Given the description of an element on the screen output the (x, y) to click on. 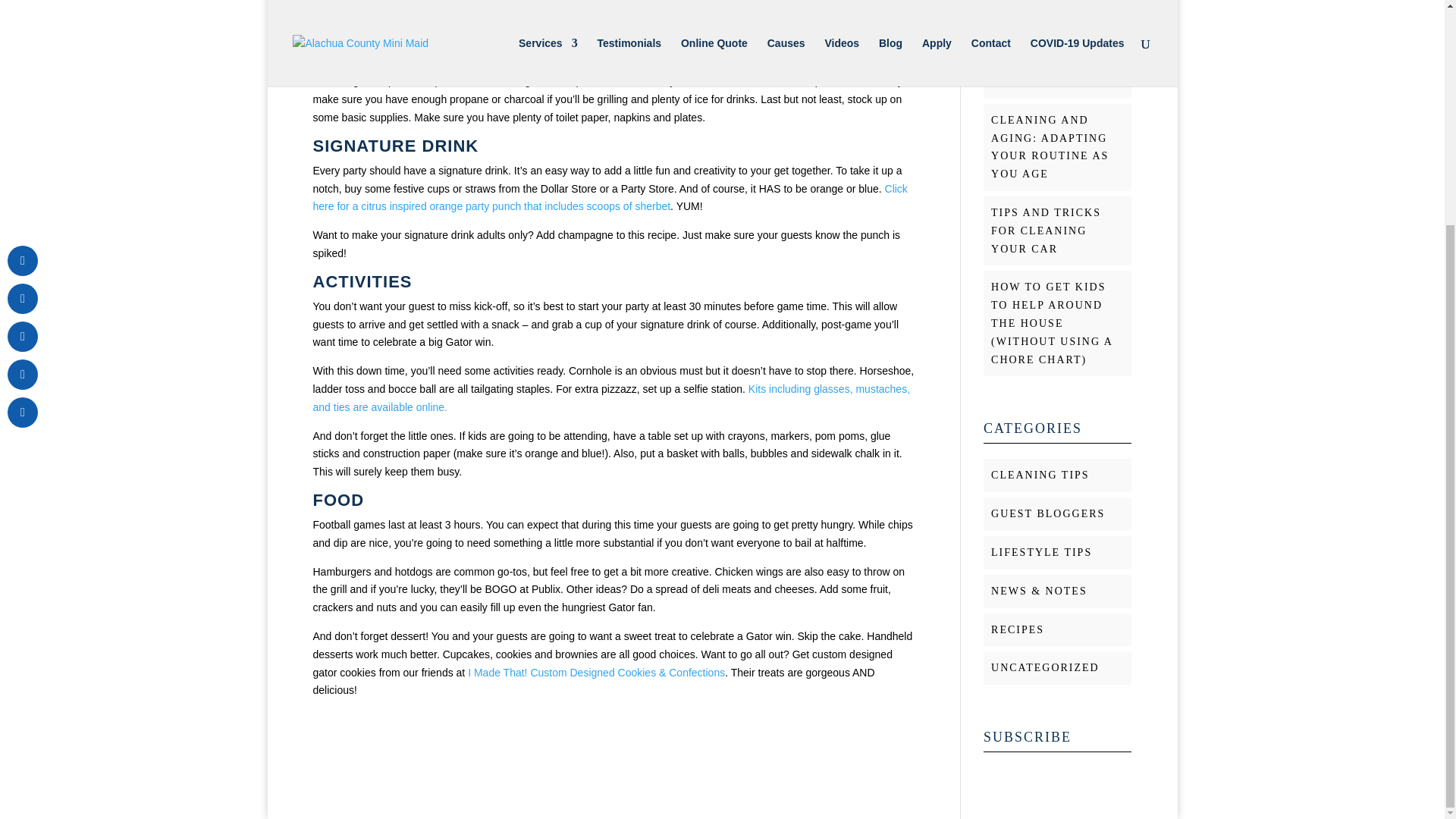
Consider hiring a cleaning company (510, 52)
LIFESTYLE TIPS (1041, 552)
RECIPES (1017, 629)
UNCATEGORIZED (1045, 667)
GUEST BLOGGERS (1048, 513)
SUMMER HOME MAINTENANCE TASKS (1039, 62)
CLEANING TIPS (1040, 474)
CLEANING AND AGING: ADAPTING YOUR ROUTINE AS YOU AGE (1049, 146)
